Given the description of an element on the screen output the (x, y) to click on. 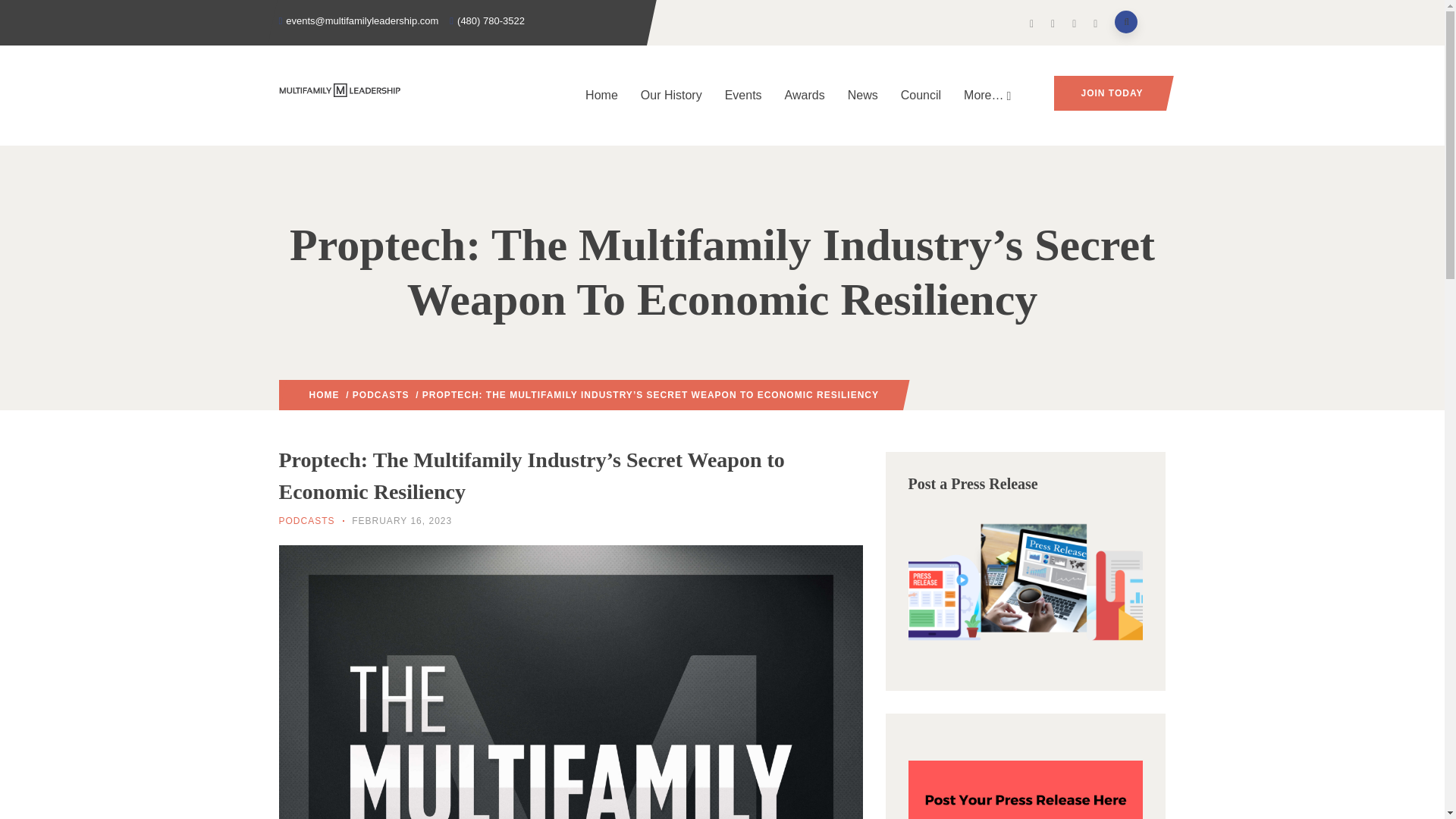
Home (600, 95)
Council (920, 95)
Awards (804, 95)
News (862, 95)
Events (743, 95)
Our History (670, 95)
HOME (323, 394)
JOIN TODAY (1110, 93)
